Given the description of an element on the screen output the (x, y) to click on. 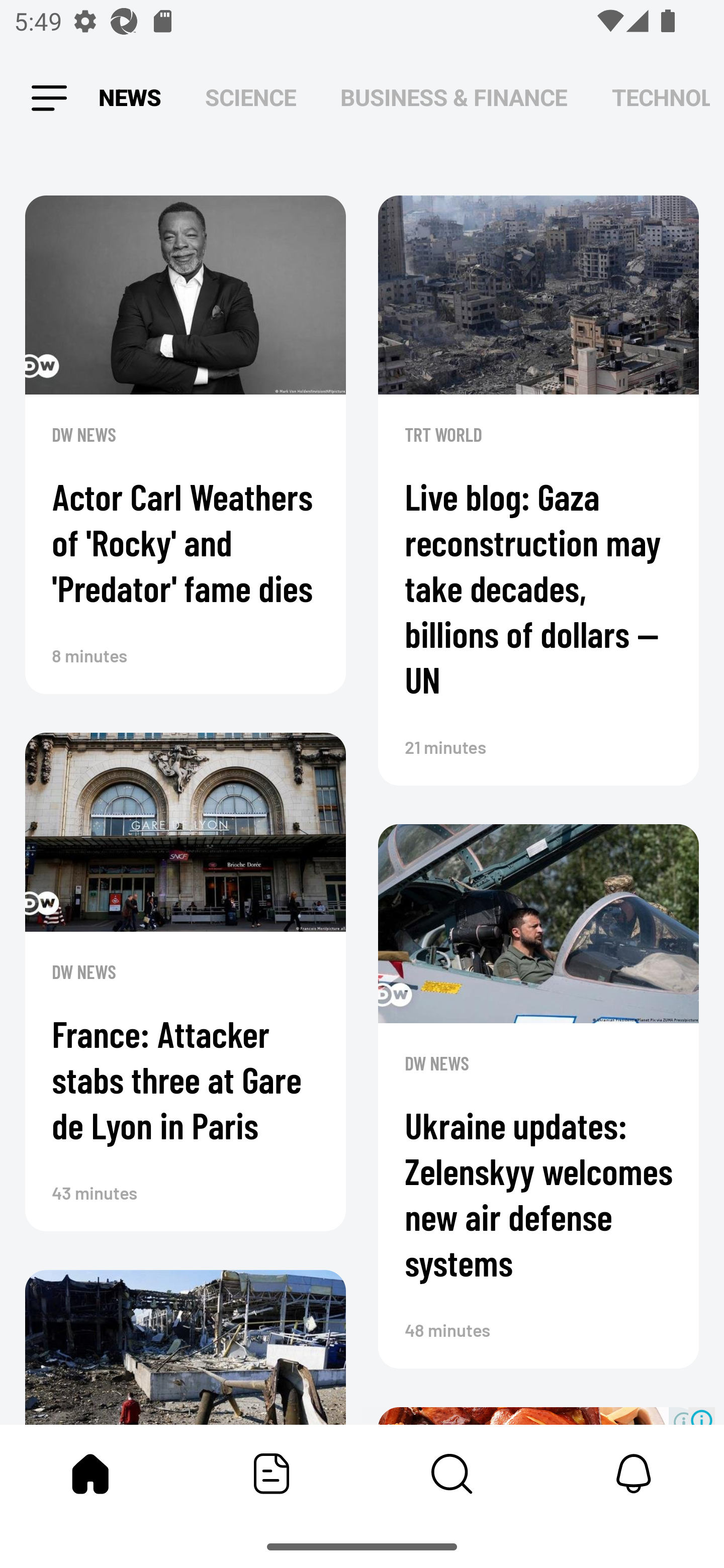
Leading Icon (49, 98)
SCIENCE (250, 97)
BUSINESS & FINANCE (453, 97)
TECHNOLOGY (660, 97)
Featured (271, 1473)
Content Store (452, 1473)
Notifications (633, 1473)
